Given the description of an element on the screen output the (x, y) to click on. 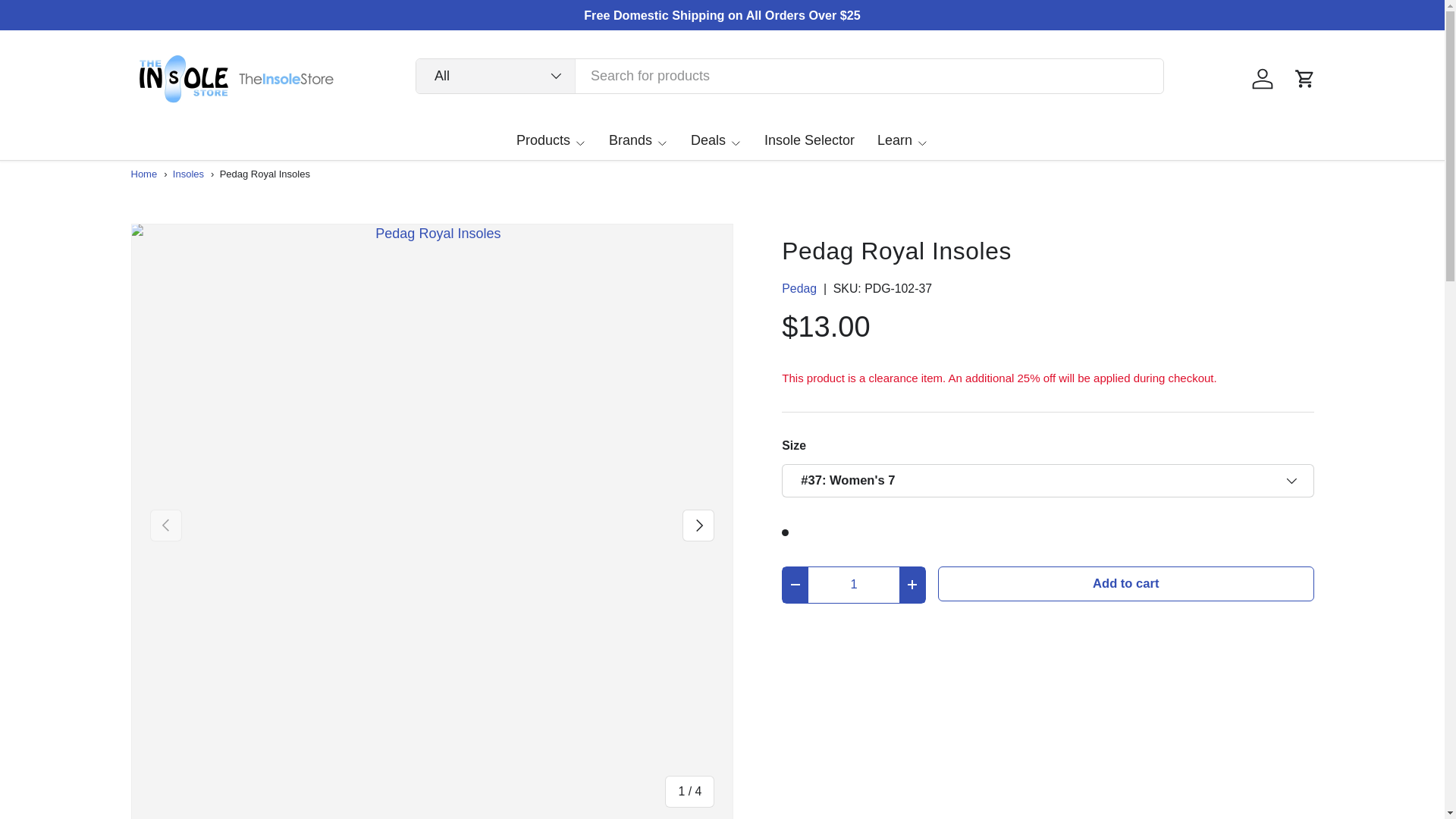
All (495, 75)
Log in (1261, 78)
Pedag Royal Insoles at The Insole Store (264, 173)
Brands (638, 140)
Cart (1303, 78)
Products (551, 140)
1 (853, 584)
Shop  at The Insole Store (189, 173)
Skip to content (64, 21)
Home (144, 173)
